Given the description of an element on the screen output the (x, y) to click on. 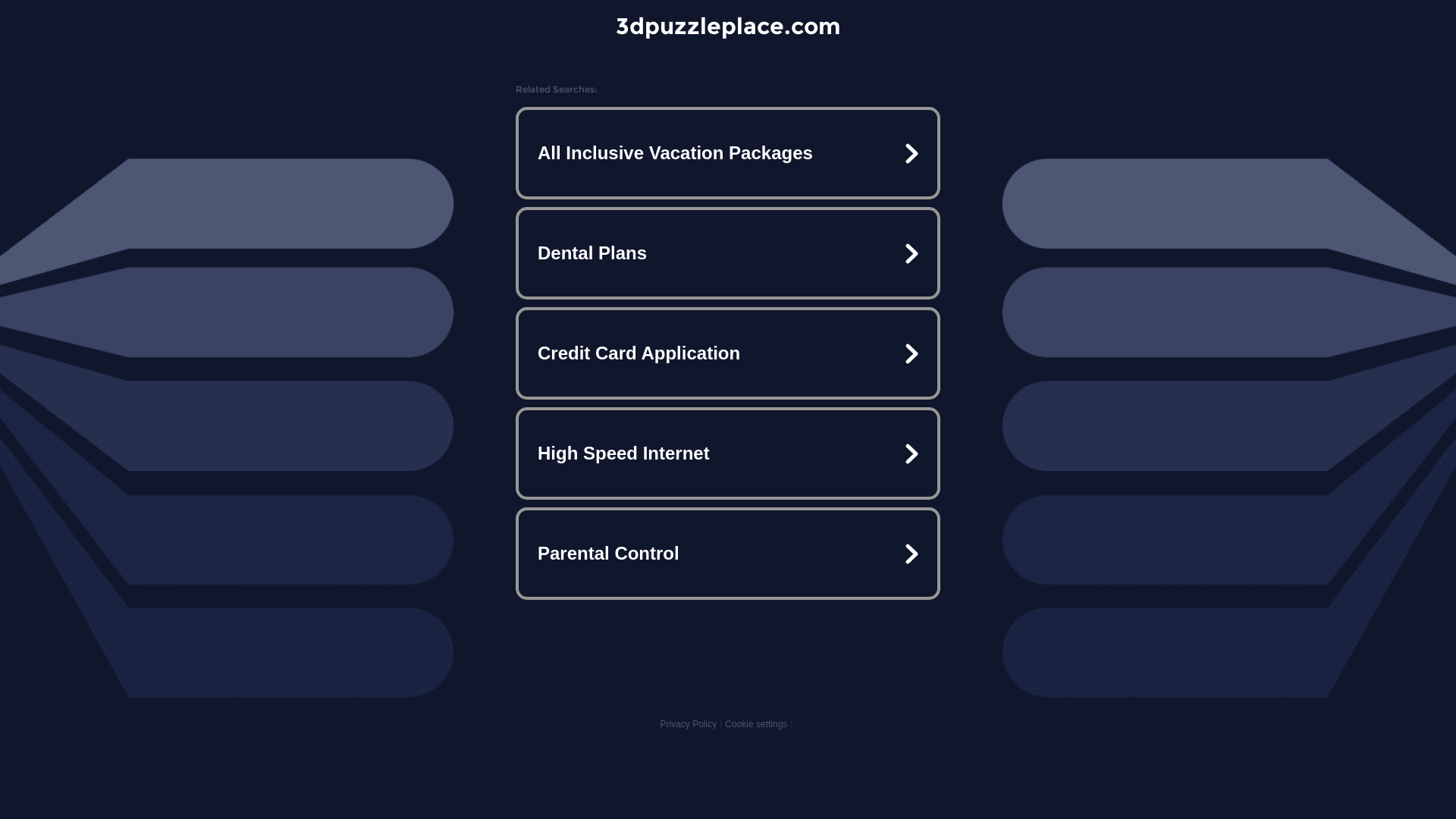
Dental Plans Element type: text (727, 253)
3dpuzzleplace.com Element type: text (727, 26)
Credit Card Application Element type: text (727, 353)
Cookie settings Element type: text (755, 723)
Parental Control Element type: text (727, 553)
Privacy Policy Element type: text (687, 723)
All Inclusive Vacation Packages Element type: text (727, 152)
High Speed Internet Element type: text (727, 453)
